Given the description of an element on the screen output the (x, y) to click on. 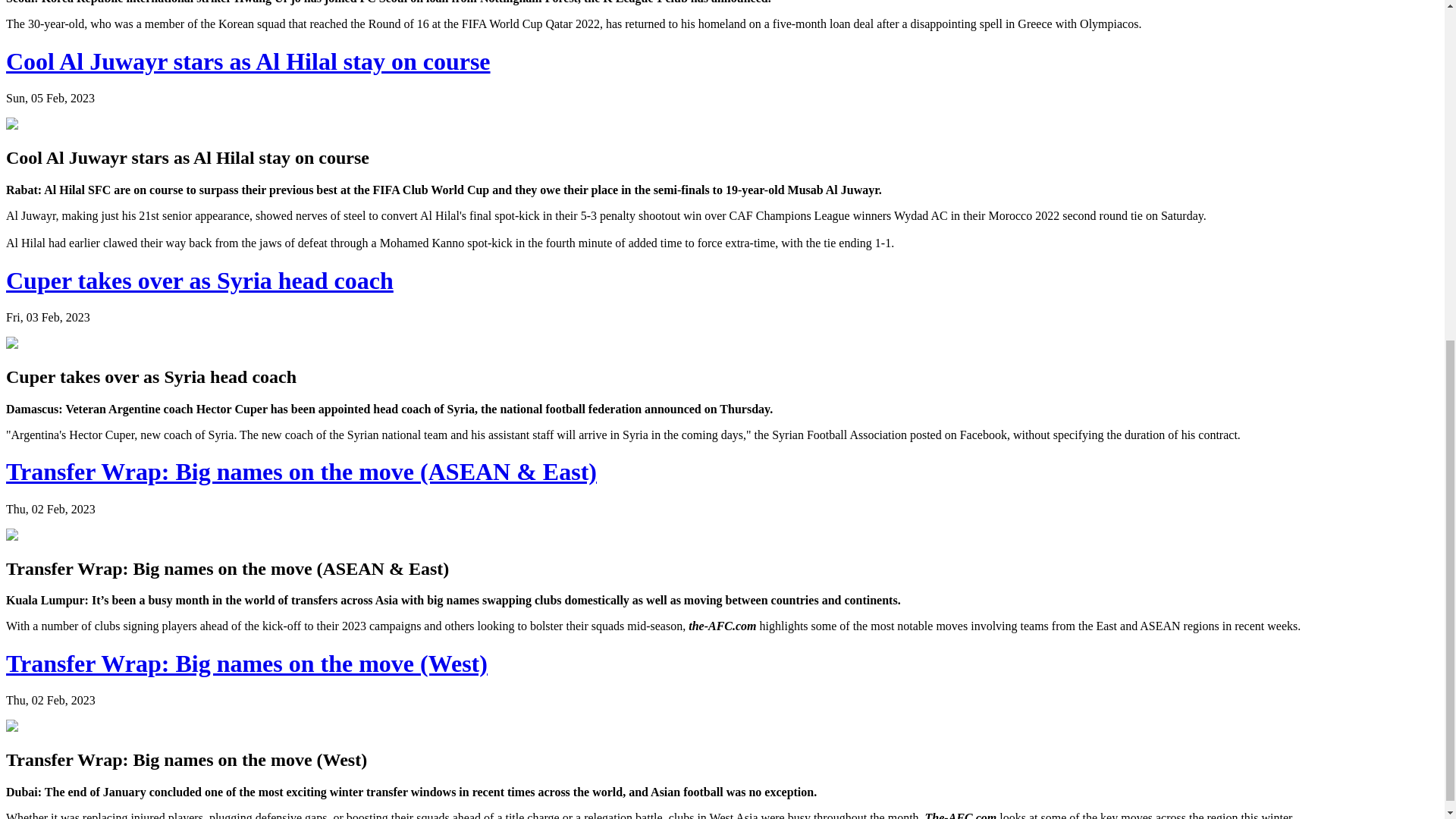
Cool Al Juwayr stars as Al Hilal stay on course (247, 61)
Cuper takes over as Syria head coach (199, 280)
